Given the description of an element on the screen output the (x, y) to click on. 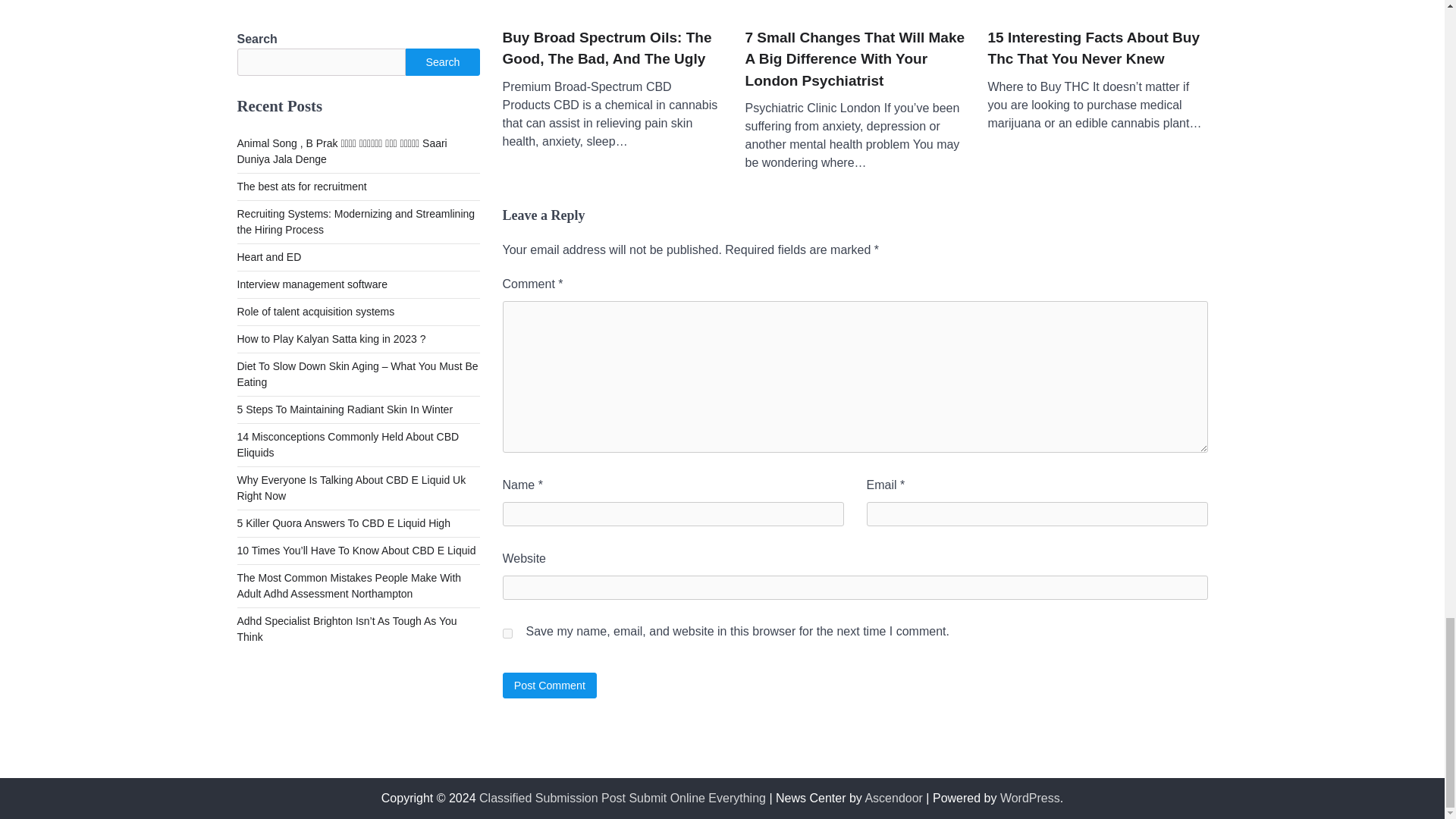
yes (507, 633)
Post Comment (549, 684)
15 Interesting Facts About Buy Thc That You Never Knew (1097, 48)
Buy Broad Spectrum Oils: The Good, The Bad, And The Ugly (612, 48)
Post Comment (549, 684)
